Given the description of an element on the screen output the (x, y) to click on. 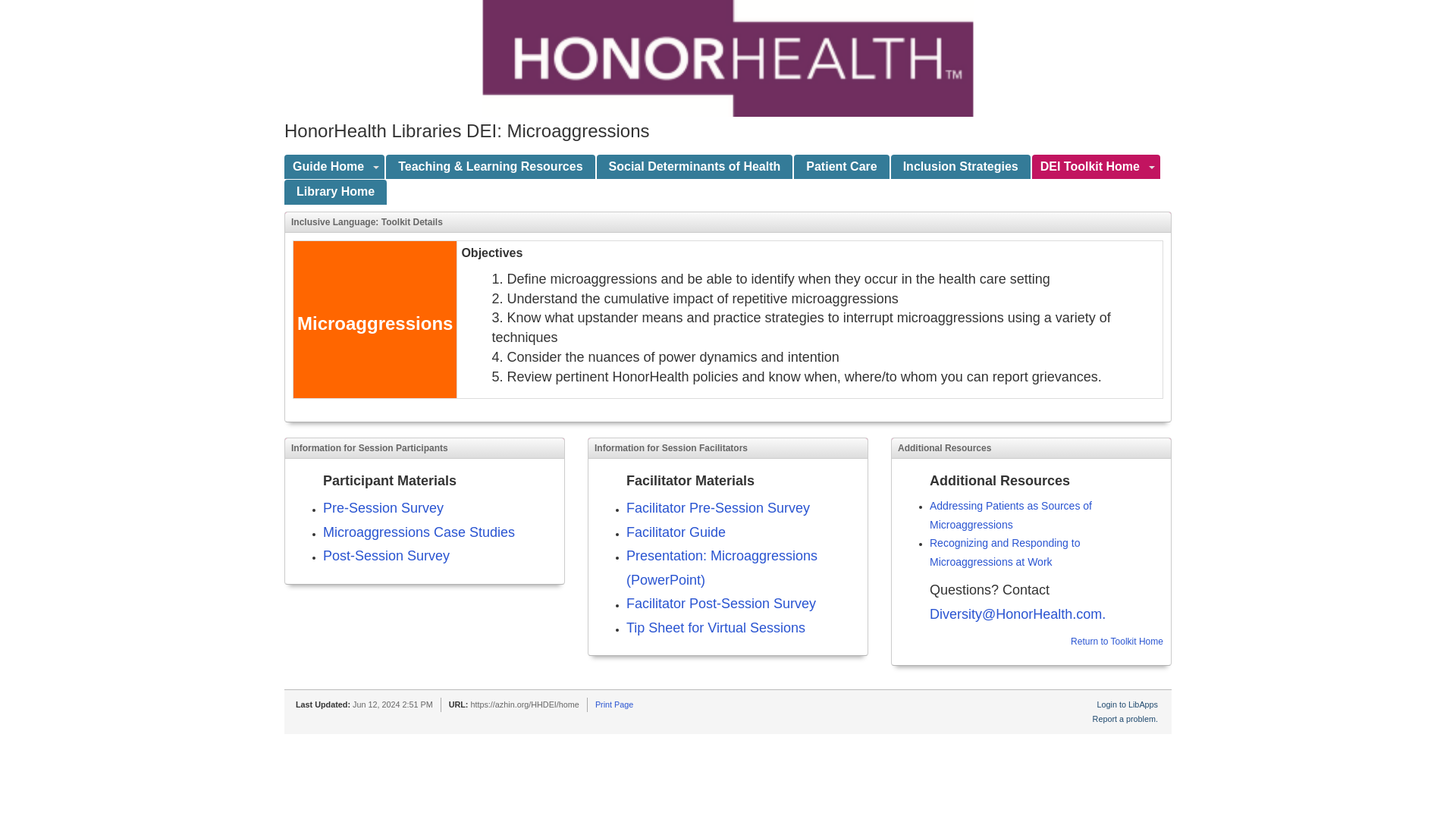
Library Home (335, 191)
Pre-Session Survey (383, 507)
Toggle Dropdown (376, 166)
Microaggressions Case Studies (419, 533)
DEI Toolkit Home (1088, 166)
Inclusion Strategies (960, 166)
Toggle Dropdown (1152, 166)
Post-Session Survey (386, 555)
Patient Care (840, 166)
Guide Home (325, 166)
Social Determinants of Health (694, 166)
